Given the description of an element on the screen output the (x, y) to click on. 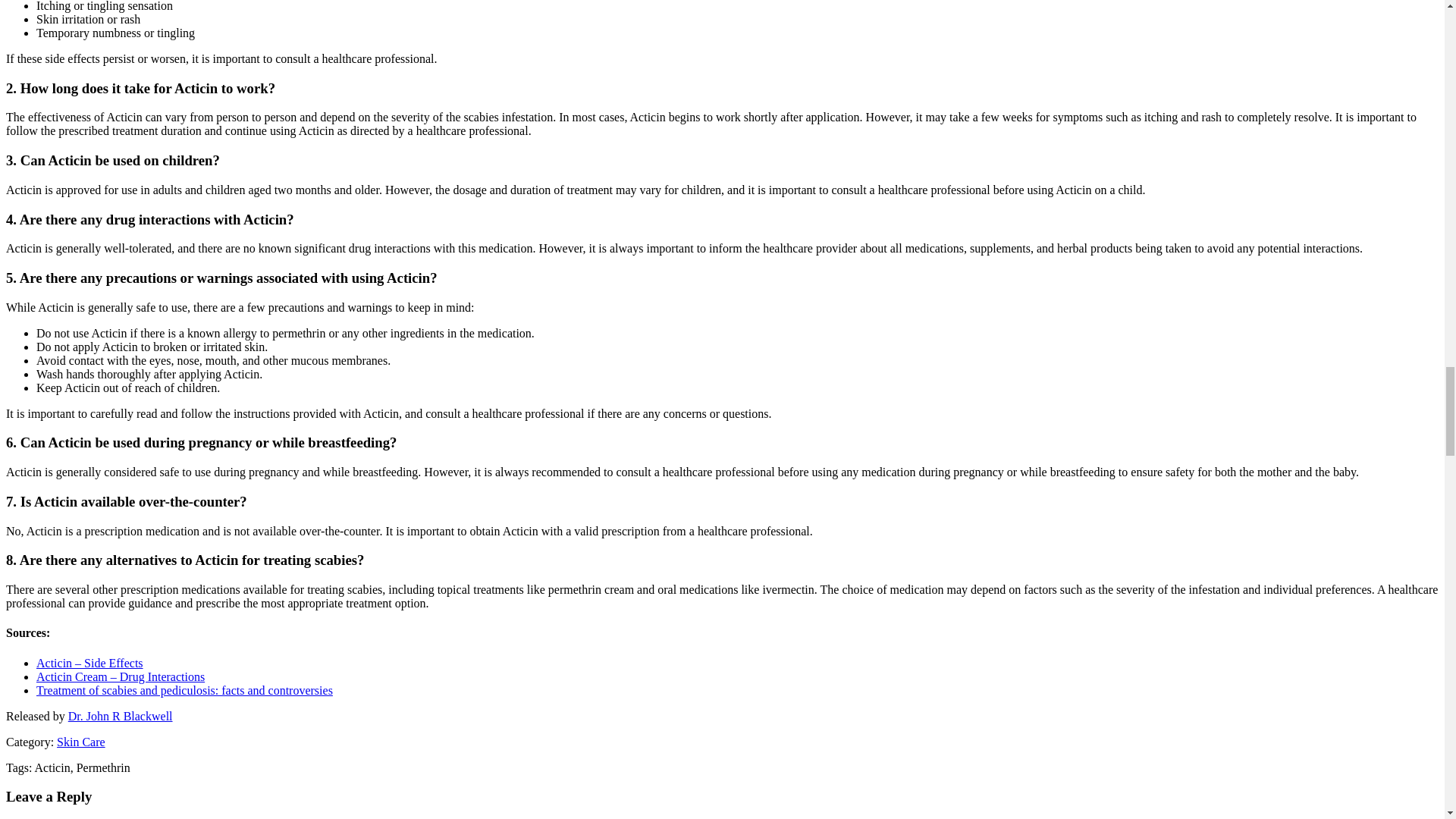
Posts by Dr. John R Blackwell (120, 716)
